Given the description of an element on the screen output the (x, y) to click on. 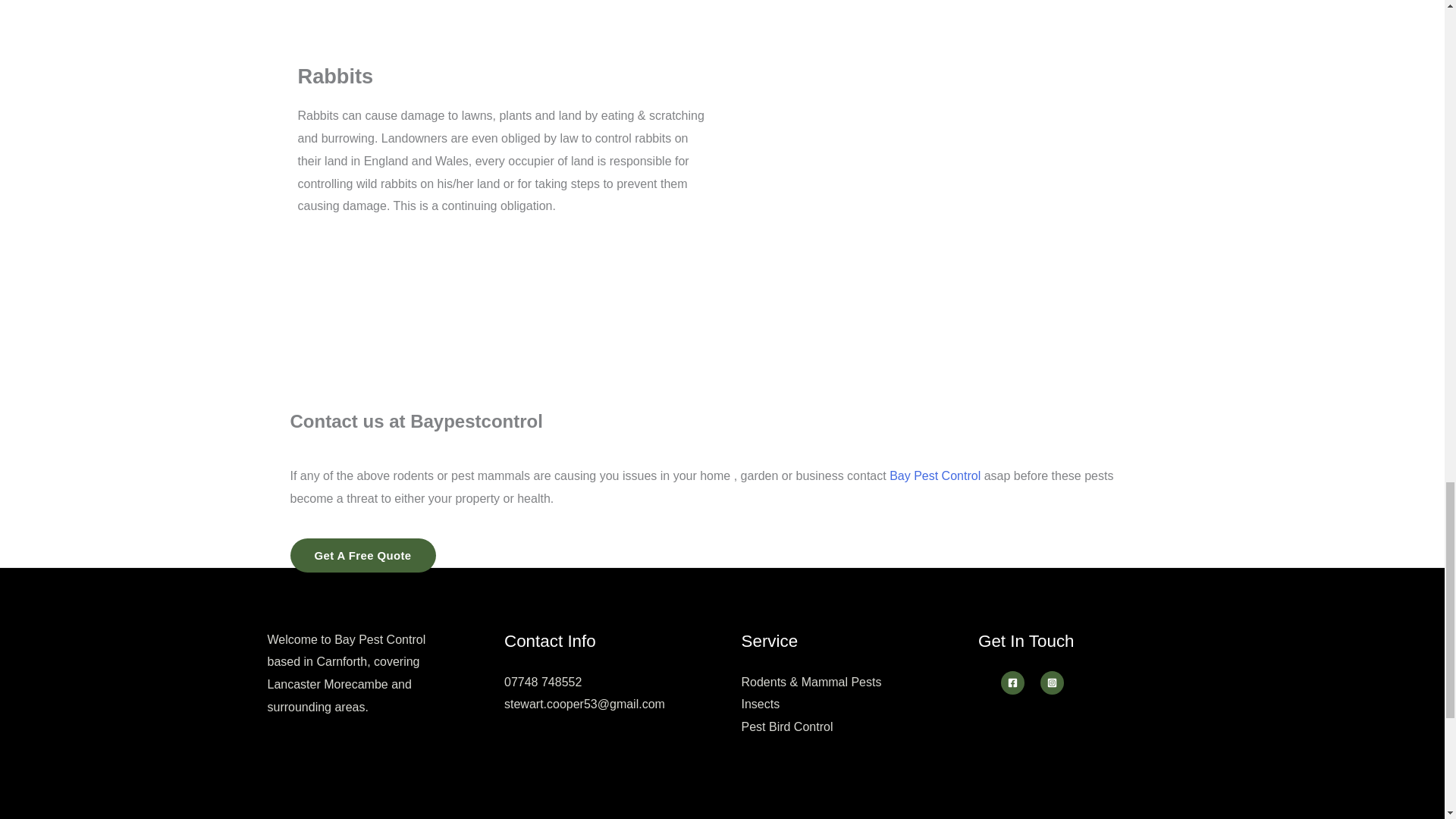
Pest Bird Control (786, 726)
Get A Free Quote (362, 555)
Bay Pest Control (934, 475)
Insects (760, 703)
